Given the description of an element on the screen output the (x, y) to click on. 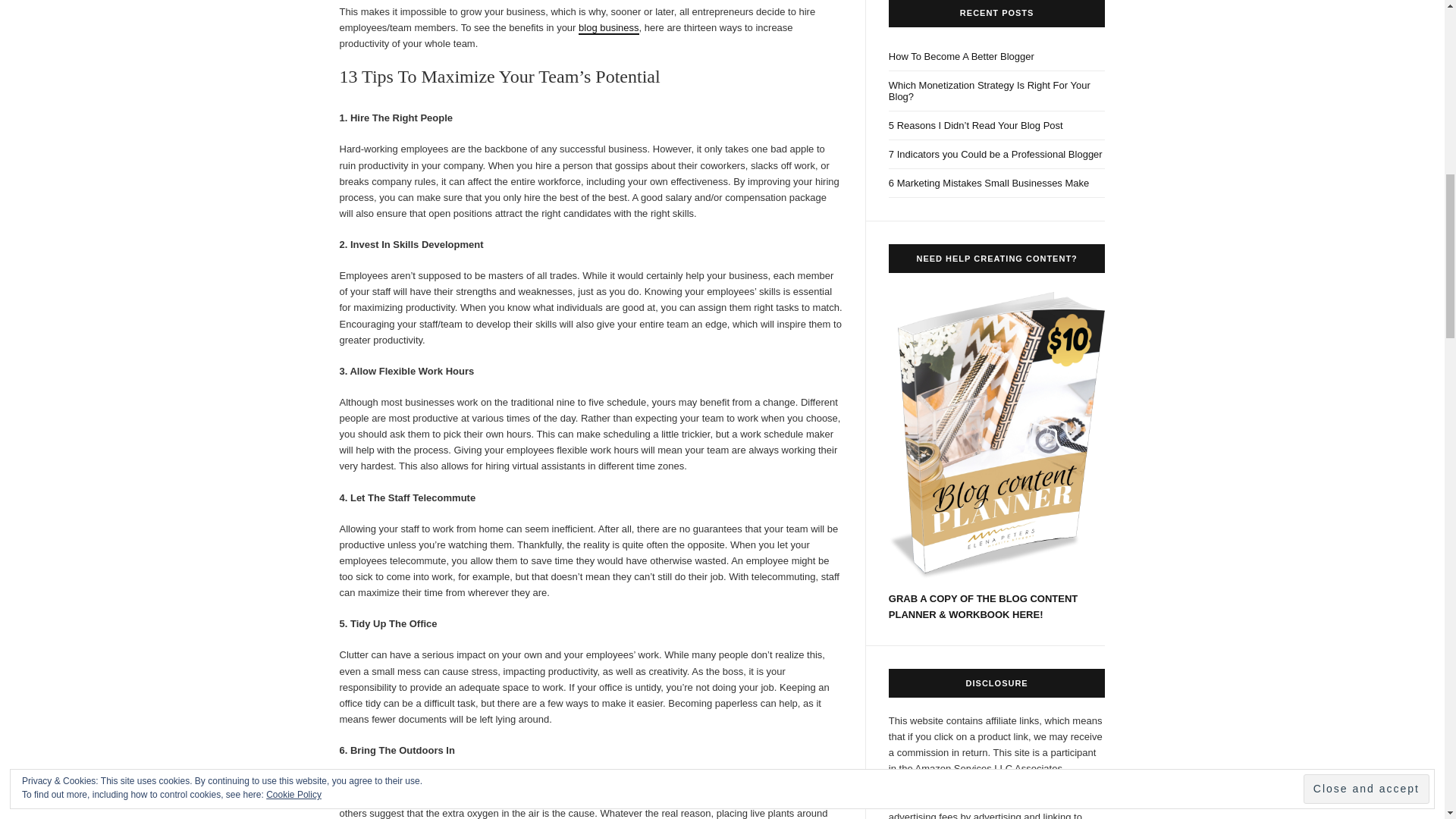
blog business (608, 28)
